Given the description of an element on the screen output the (x, y) to click on. 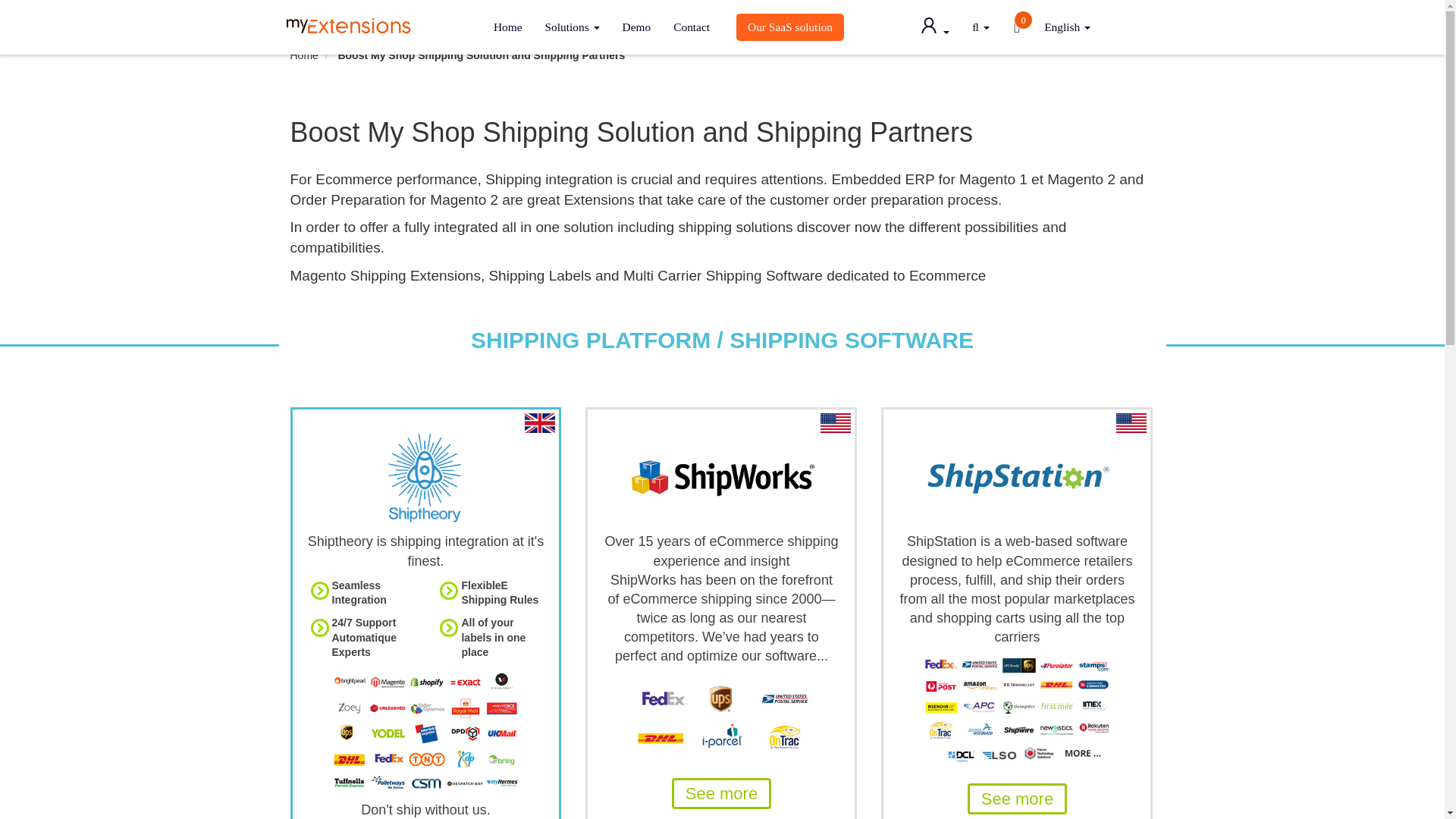
Home (303, 55)
Home (507, 26)
Go to Home Page (303, 55)
English (1067, 26)
Contact (691, 26)
Our SaaS solution (790, 26)
Demo (636, 26)
Solutions (572, 26)
